Given the description of an element on the screen output the (x, y) to click on. 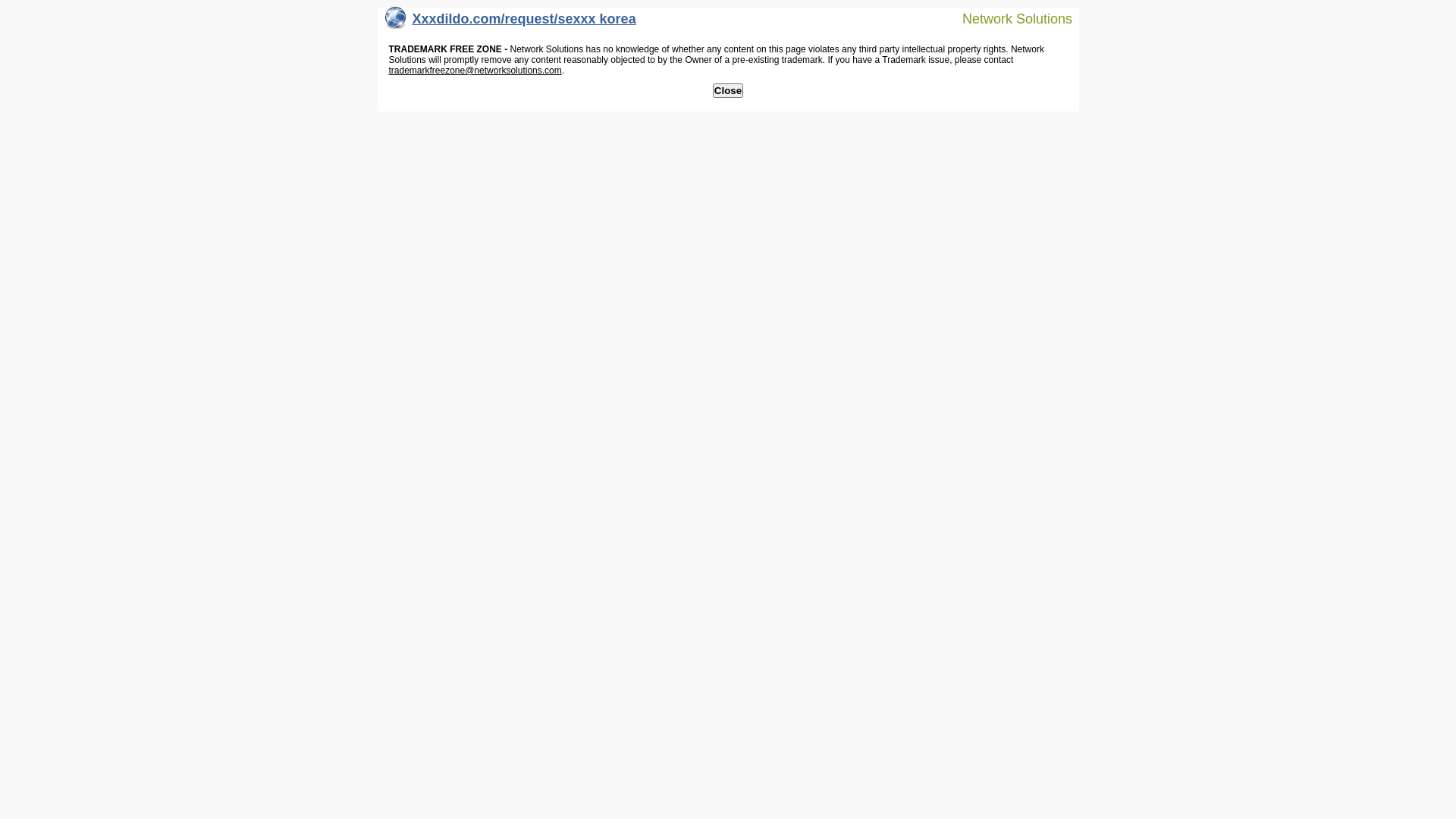
trademarkfreezone@networksolutions.com Element type: text (474, 70)
Network Solutions Element type: text (1007, 17)
Xxxdildo.com/request/sexxx korea Element type: text (510, 21)
Close Element type: text (727, 90)
